Given the description of an element on the screen output the (x, y) to click on. 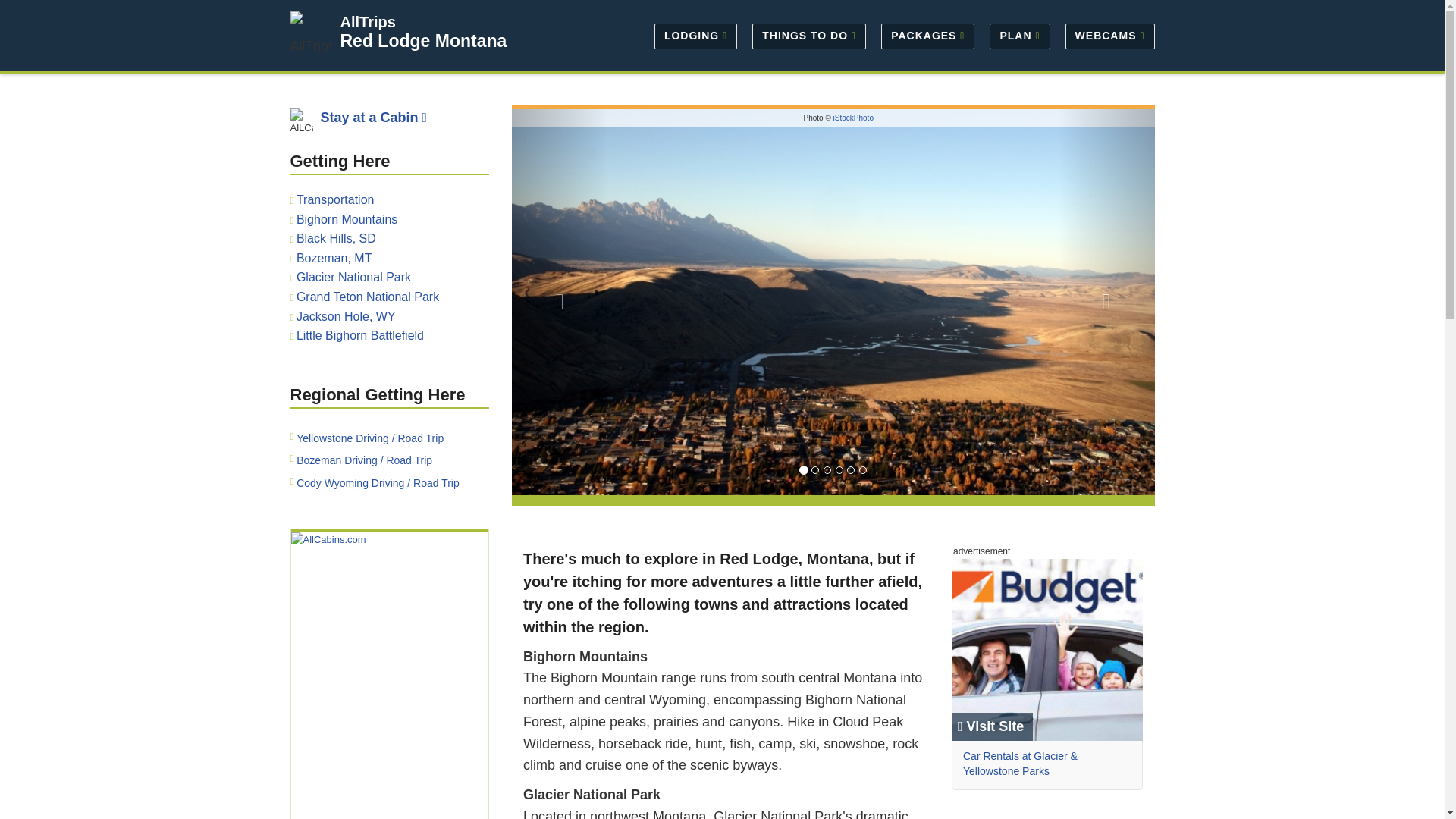
PACKAGES (927, 35)
iStockPhoto (852, 117)
WEBCAMS (1106, 35)
AllTrips (366, 21)
THINGS TO DO (808, 35)
LODGING (695, 35)
PLAN (1019, 35)
Red Lodge Montana (422, 40)
